Given the description of an element on the screen output the (x, y) to click on. 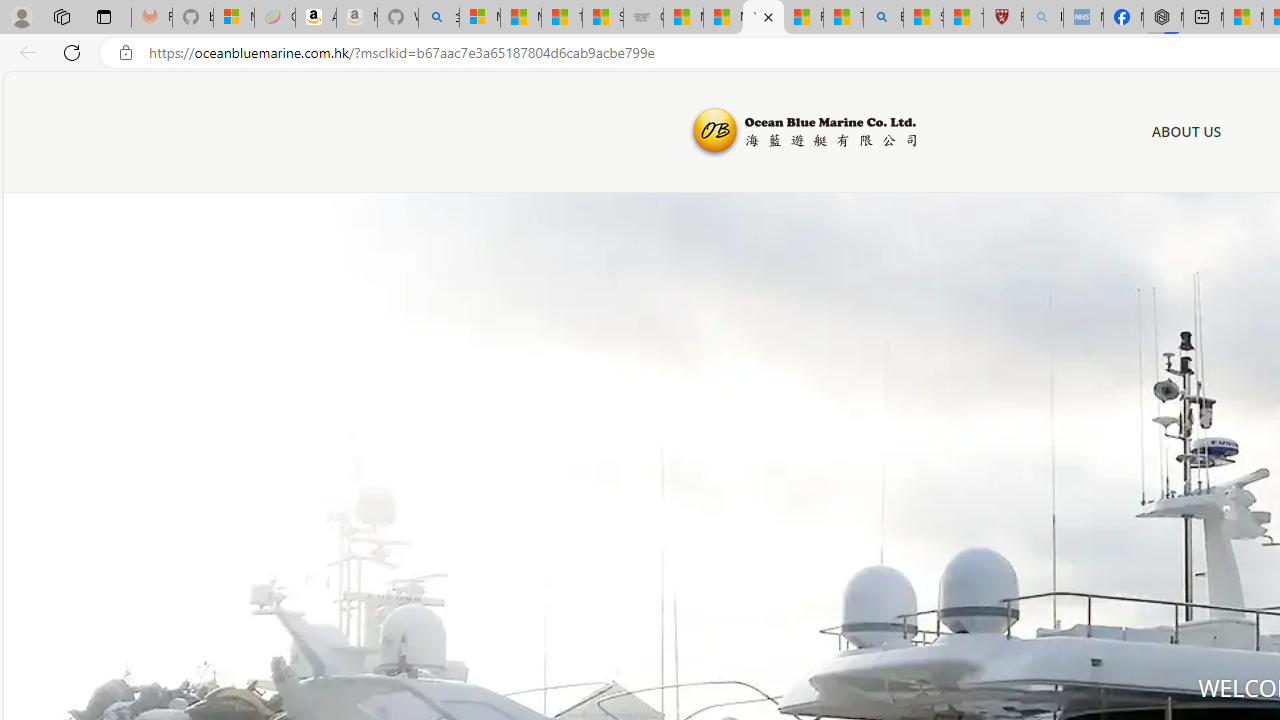
Ocean Blue Marine (801, 132)
Ocean Blue Marine (801, 132)
Bing (883, 17)
